Given the description of an element on the screen output the (x, y) to click on. 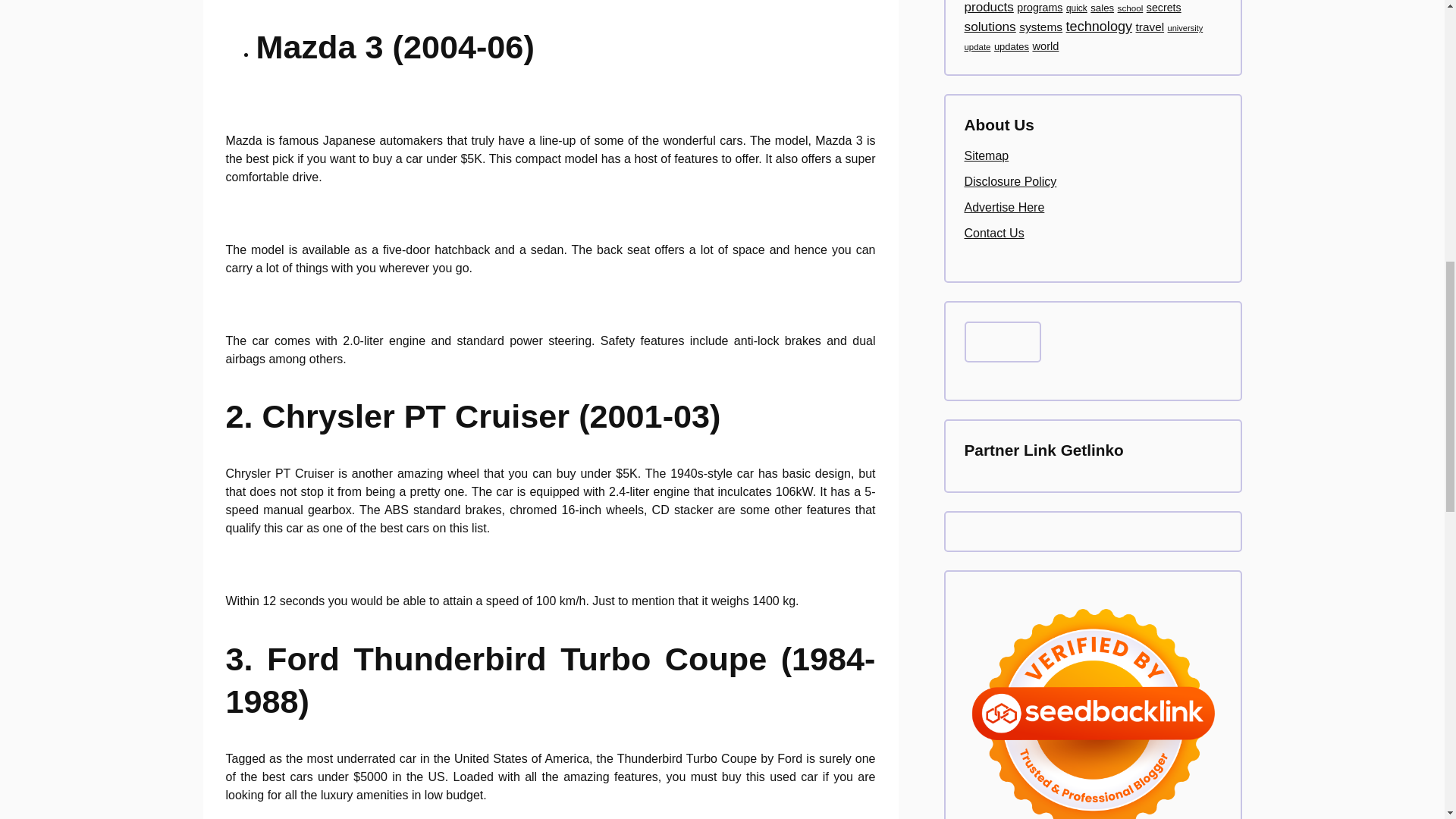
Seedbacklink (1092, 704)
